Given the description of an element on the screen output the (x, y) to click on. 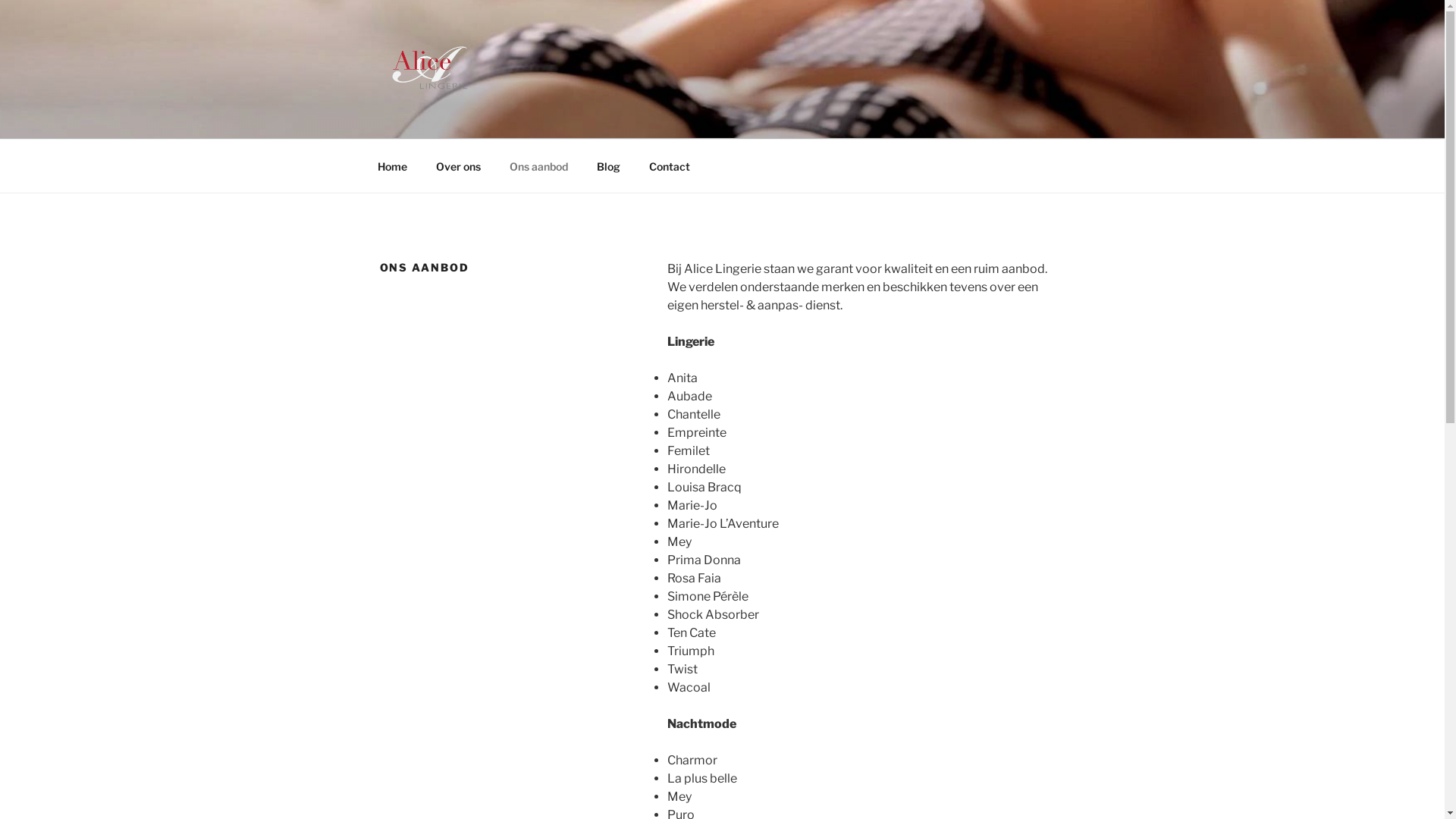
Ons aanbod Element type: text (537, 165)
Contact Element type: text (668, 165)
Over ons Element type: text (458, 165)
ALICE LINGERIE Element type: text (506, 118)
Blog Element type: text (608, 165)
Home Element type: text (392, 165)
